Given the description of an element on the screen output the (x, y) to click on. 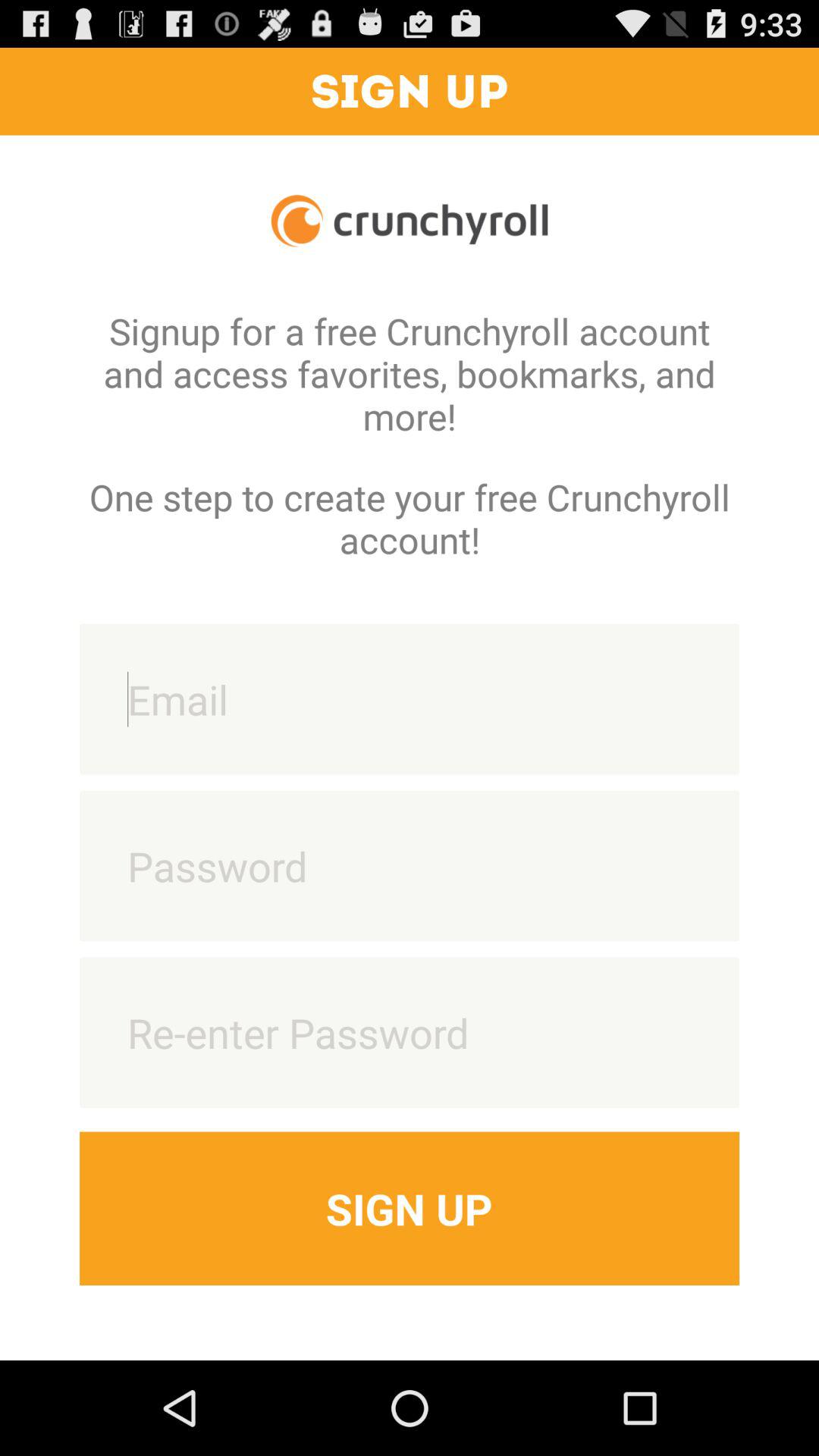
re-enter password (409, 1032)
